Given the description of an element on the screen output the (x, y) to click on. 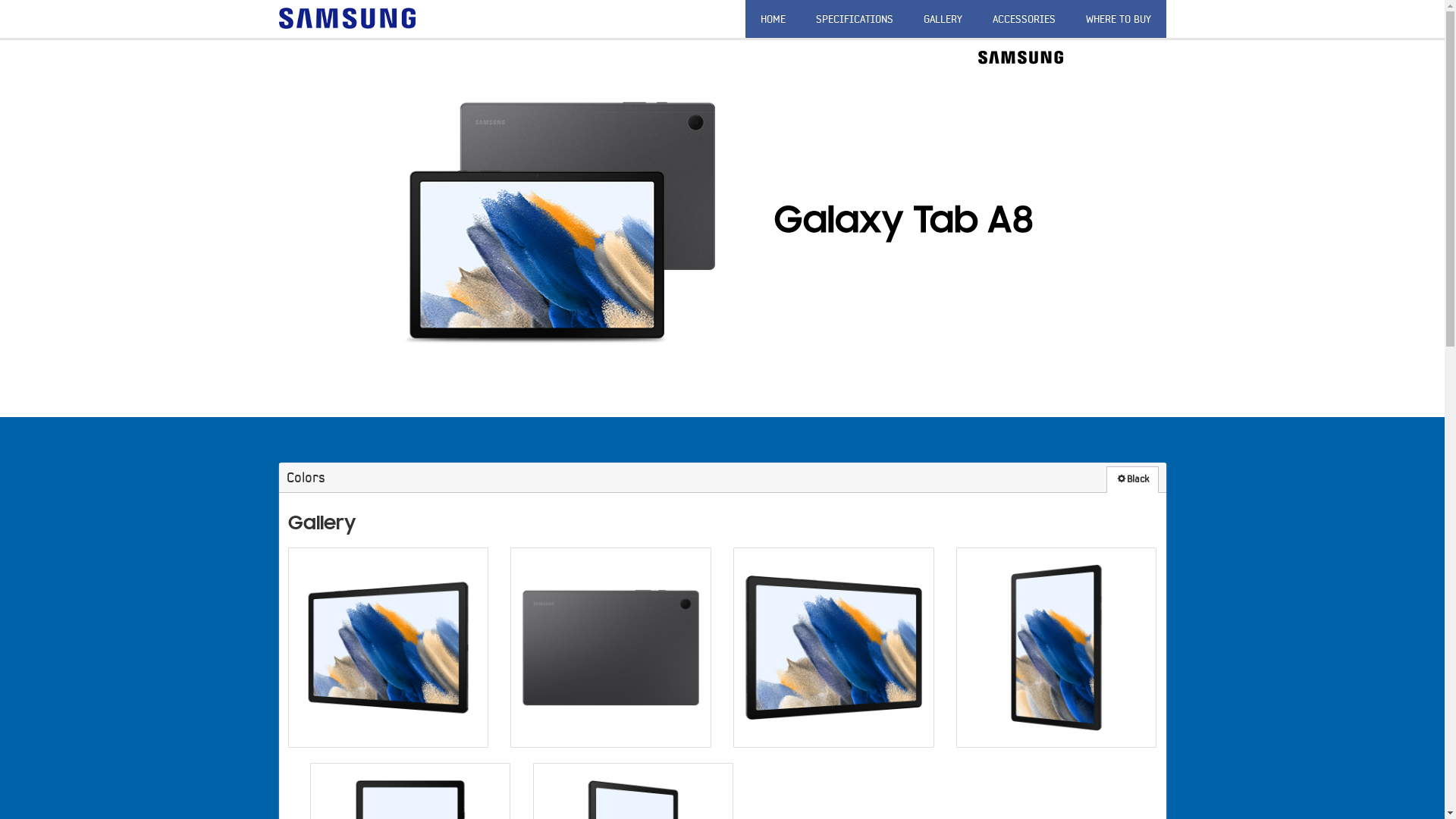
HOME Element type: text (772, 18)
GALLERY Element type: text (942, 18)
WHERE TO BUY Element type: text (1118, 18)
Black Element type: text (1131, 479)
ACCESSORIES Element type: text (1023, 18)
SPECIFICATIONS Element type: text (854, 18)
